Given the description of an element on the screen output the (x, y) to click on. 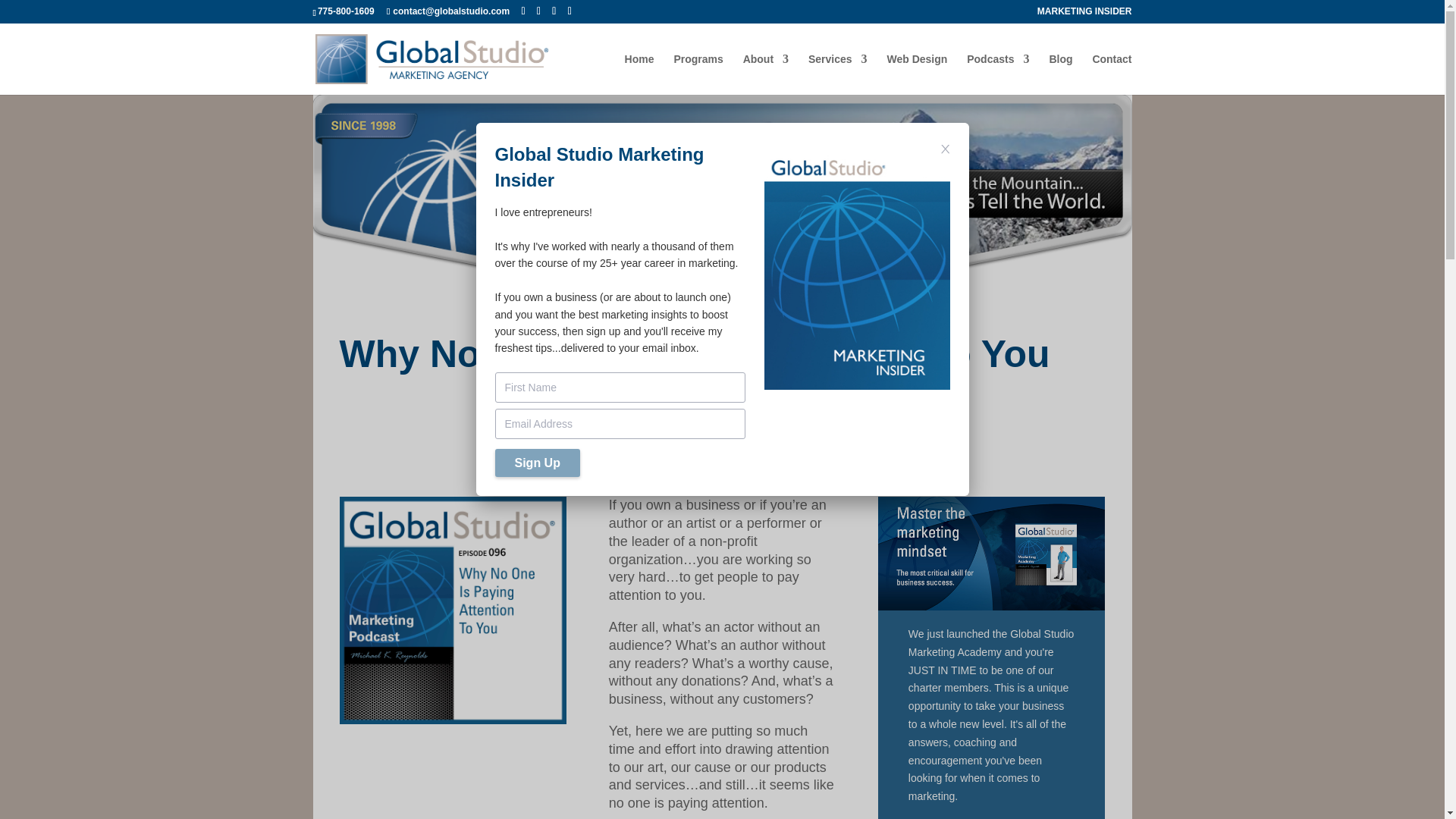
MARKETING INSIDER (1084, 14)
Web Design (916, 74)
GlobalStudio-MP-096-EA (453, 609)
Programs (697, 74)
Sign Up (537, 462)
Podcasts (997, 74)
Contact (1111, 74)
Services (837, 74)
GS-Marketing-Academy-Web-Promo-S (991, 553)
About (765, 74)
